Given the description of an element on the screen output the (x, y) to click on. 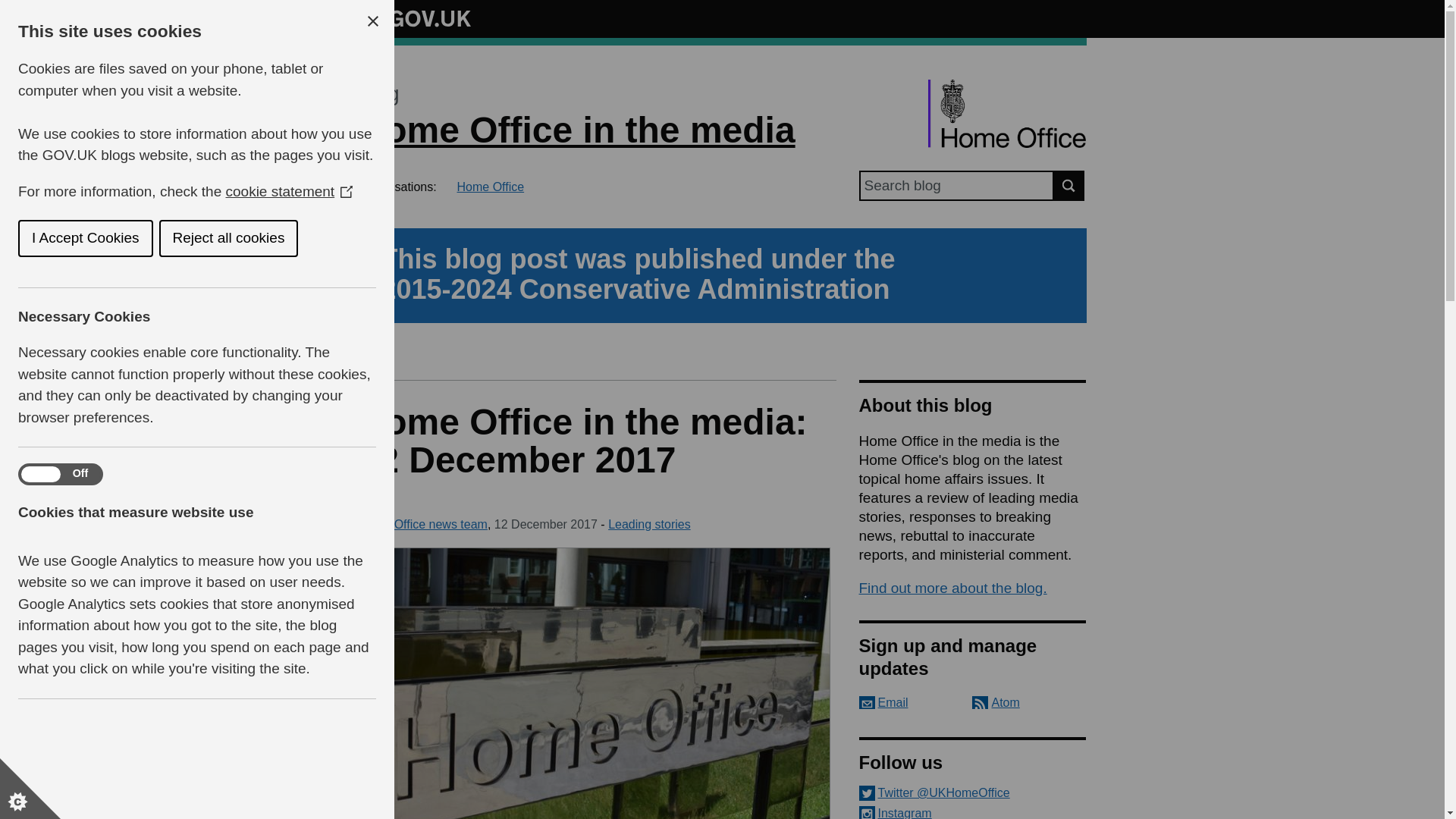
Find out more about the blog. (952, 587)
Home Office in the media (576, 129)
GOV.UK (414, 15)
Reject all cookies (50, 238)
Leading stories (649, 523)
Search (1069, 185)
Skip to main content (11, 7)
Home Office (490, 186)
Posts by Home Office news team (422, 523)
Go to the GOV.UK homepage (414, 18)
Search (1069, 185)
Email (883, 702)
Instagram (972, 812)
Home Office news team (422, 523)
Atom (995, 702)
